Given the description of an element on the screen output the (x, y) to click on. 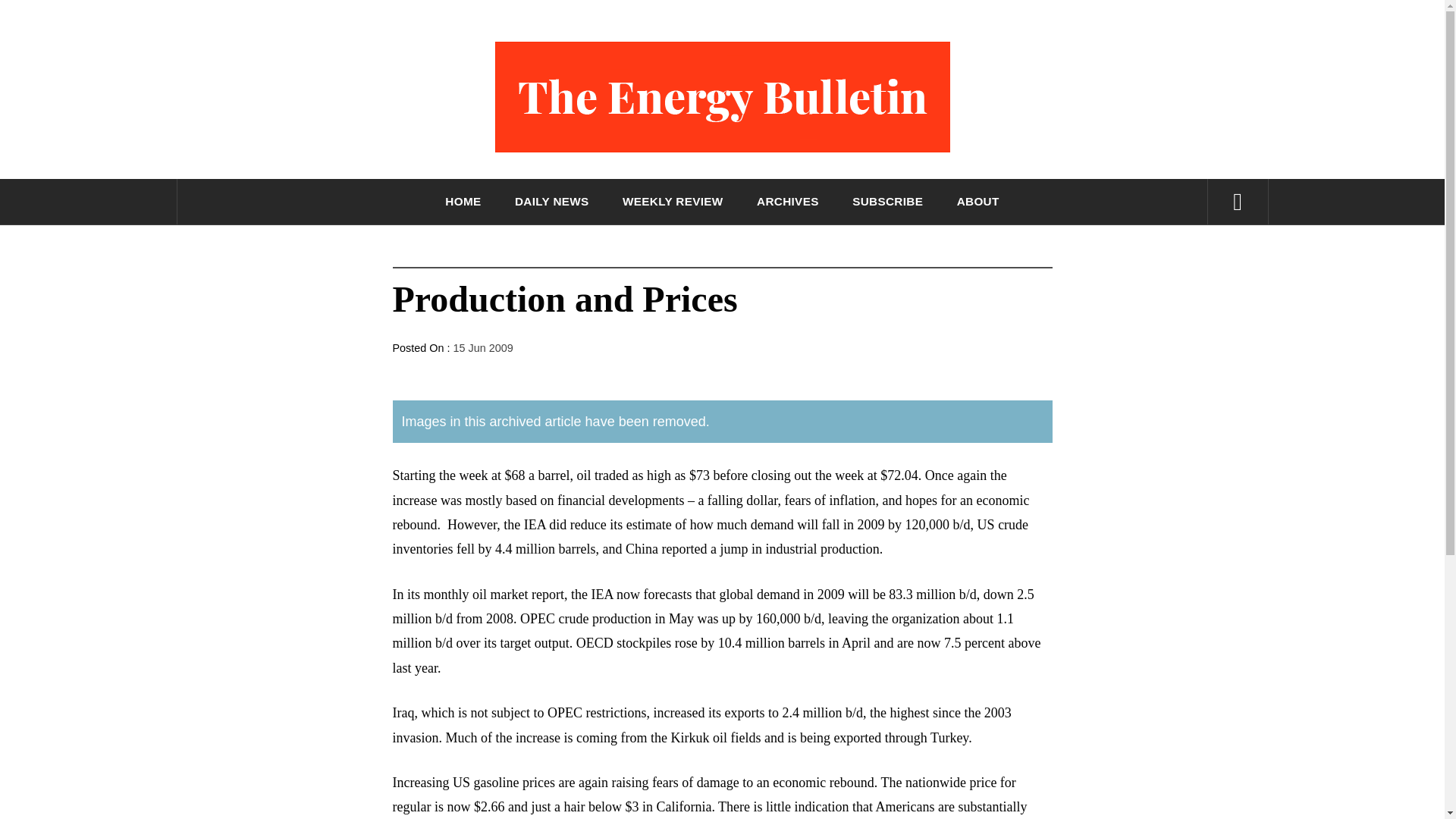
Search (797, 37)
HOME (462, 201)
SUBSCRIBE (887, 201)
15 Jun 2009 (482, 347)
ARCHIVES (788, 201)
DAILY NEWS (551, 201)
WEEKLY REVIEW (672, 201)
ABOUT (978, 201)
THE ENERGY BULLETIN (721, 197)
